Given the description of an element on the screen output the (x, y) to click on. 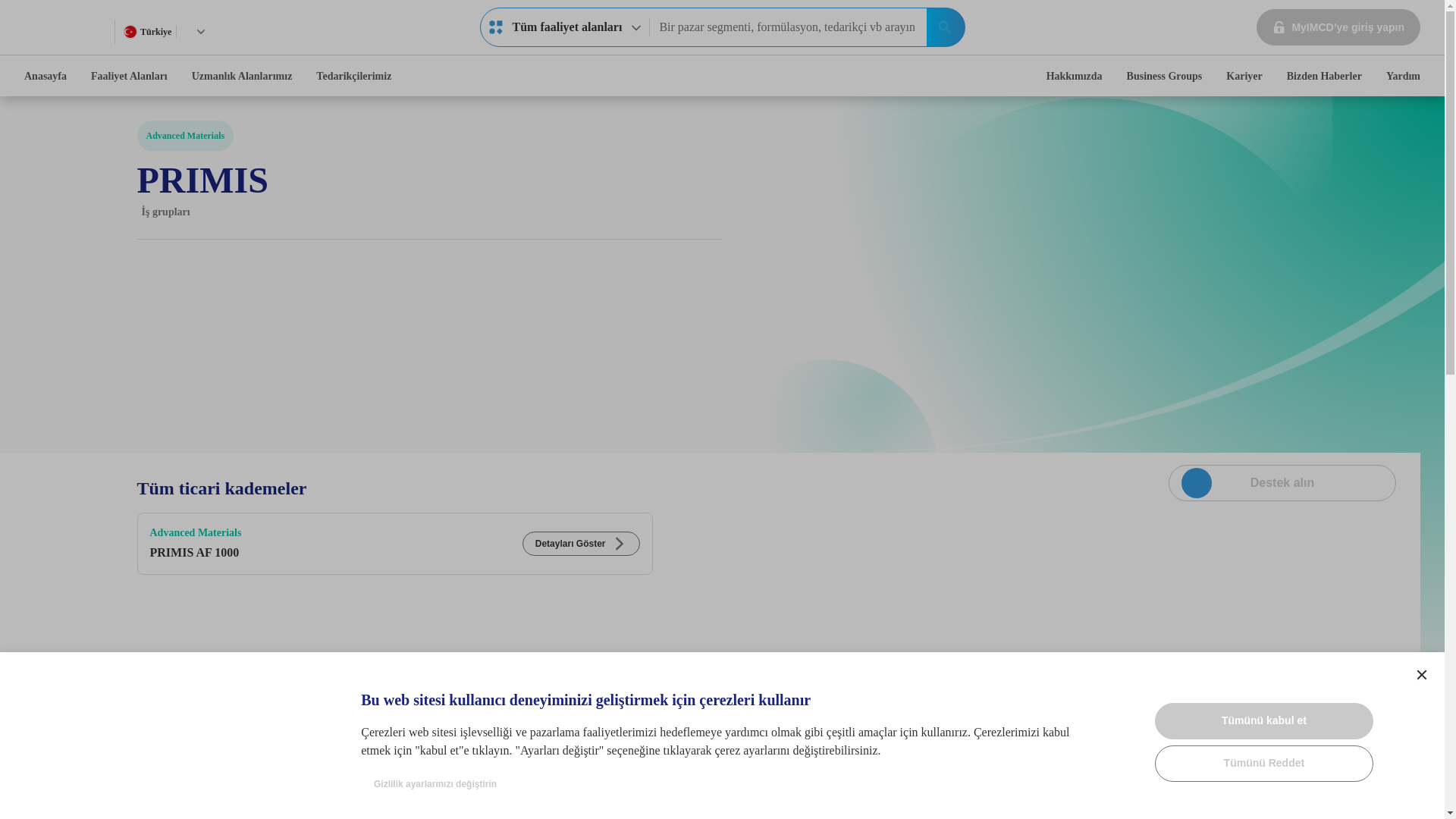
Settings (1421, 675)
Search (944, 27)
Anasayfa (44, 76)
Settings (1421, 675)
Bizden Haberler (1324, 76)
Kariyer (1244, 76)
Open Dropdown (200, 31)
all (495, 27)
Search (944, 27)
Business Groups (1164, 76)
